Given the description of an element on the screen output the (x, y) to click on. 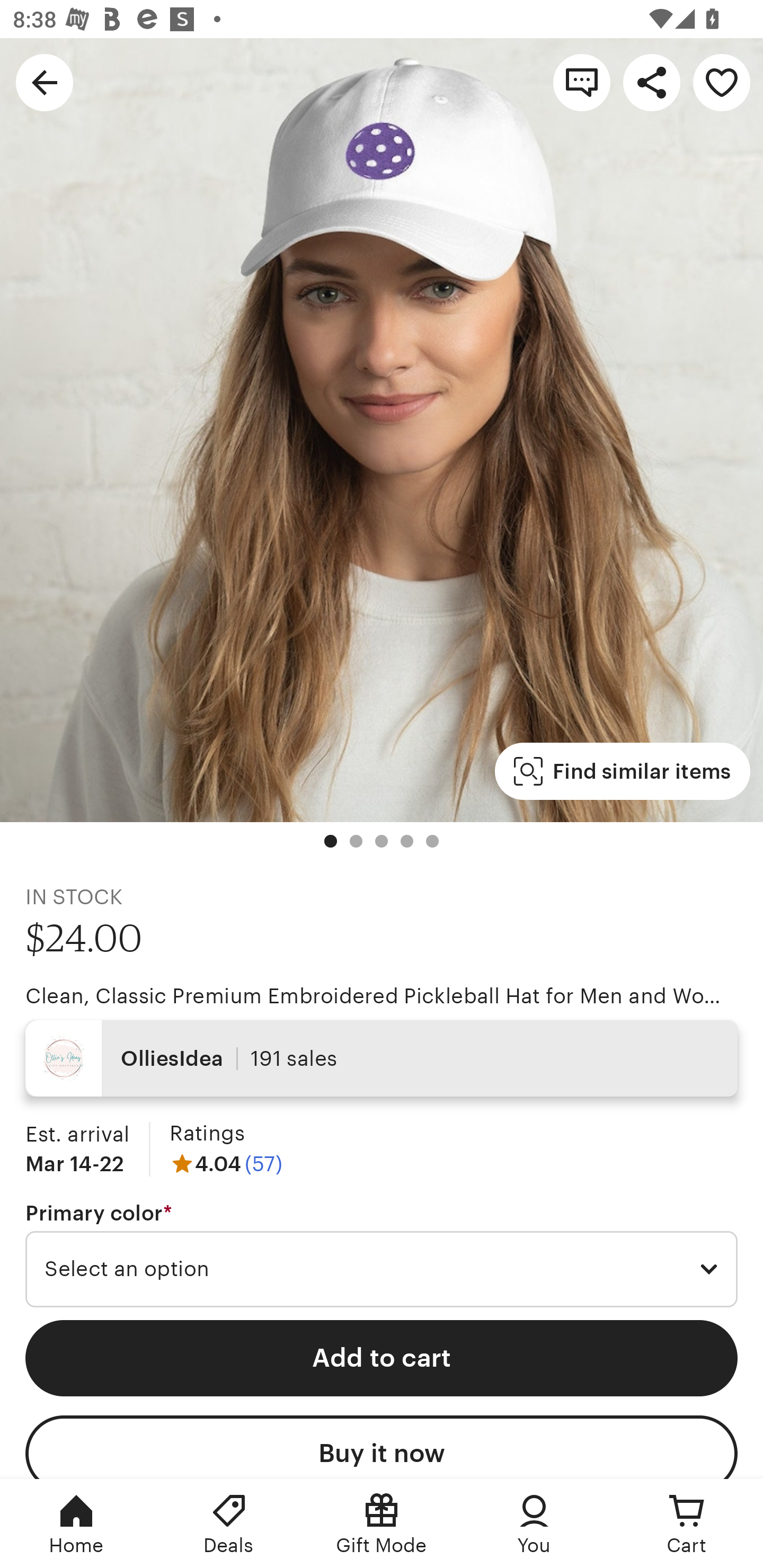
Navigate up (44, 81)
Contact shop (581, 81)
Share (651, 81)
Find similar items (622, 771)
OlliesIdea 191 sales (381, 1058)
Ratings (206, 1133)
4.04 (57) (226, 1163)
Primary color * Required Select an option (381, 1254)
Select an option (381, 1268)
Add to cart (381, 1358)
Buy it now (381, 1446)
Deals (228, 1523)
Gift Mode (381, 1523)
You (533, 1523)
Cart (686, 1523)
